Given the description of an element on the screen output the (x, y) to click on. 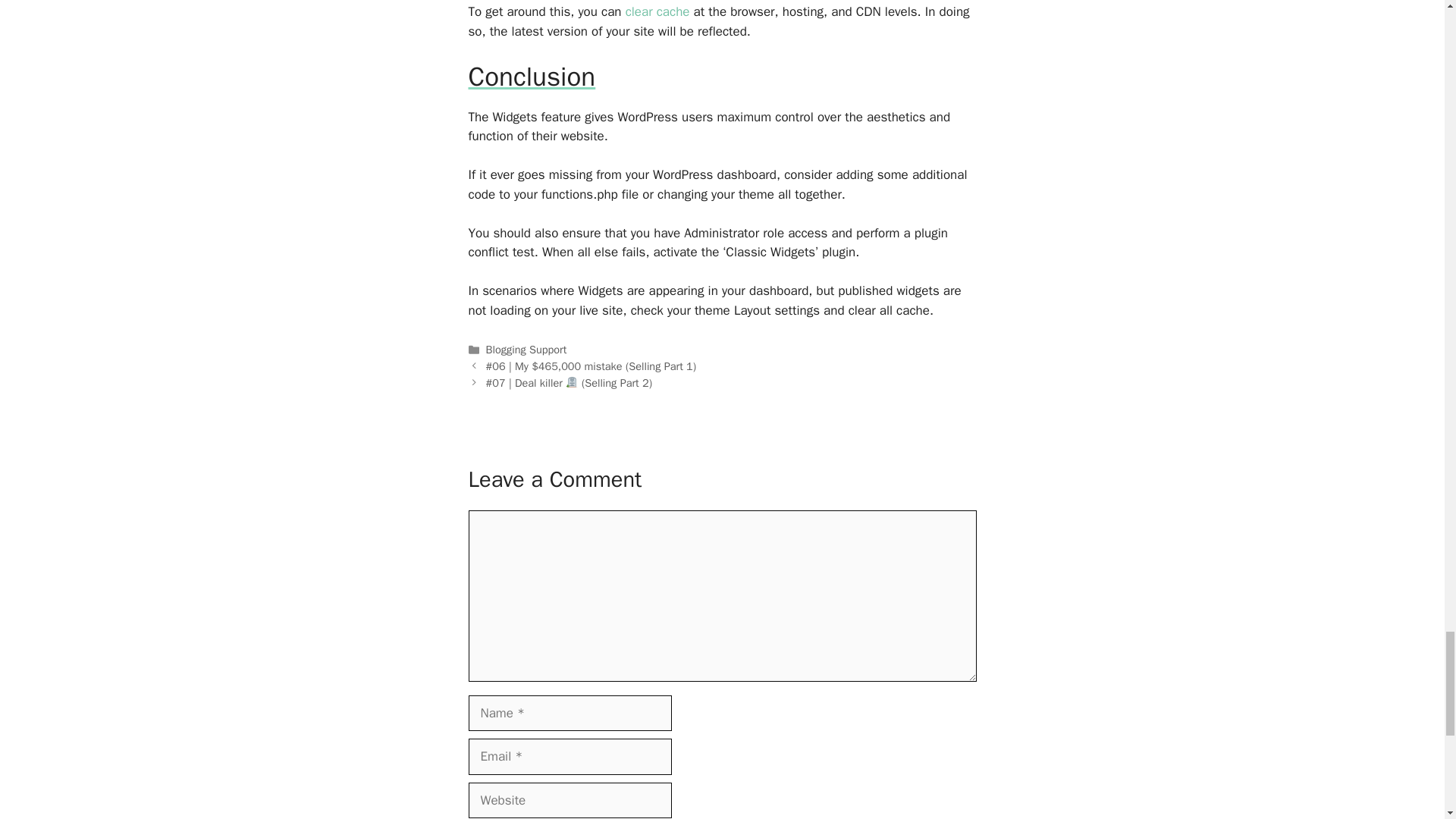
clear cache (658, 11)
Blogging Support (526, 349)
